Given the description of an element on the screen output the (x, y) to click on. 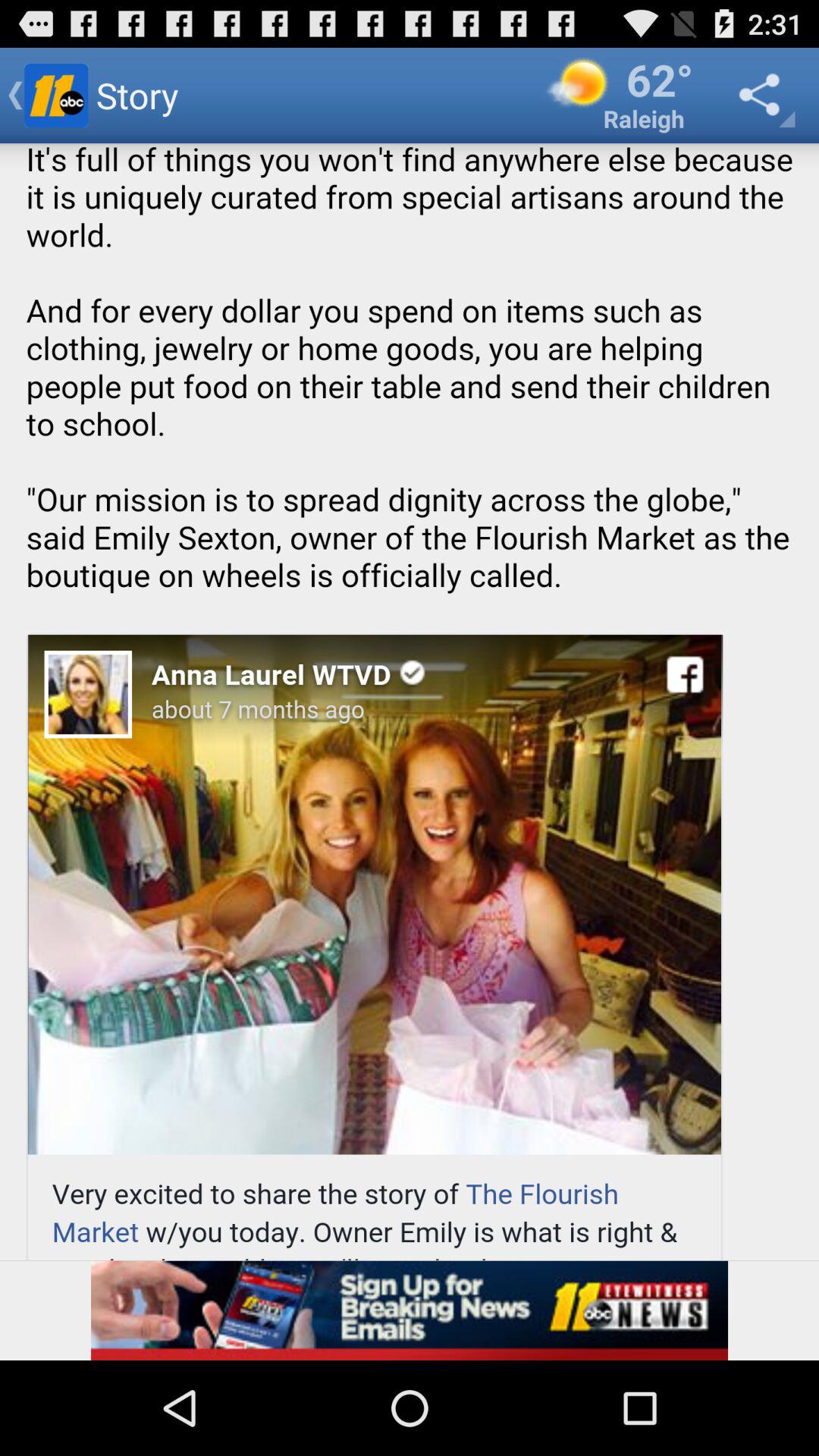
know about the advertisement (409, 1310)
